Given the description of an element on the screen output the (x, y) to click on. 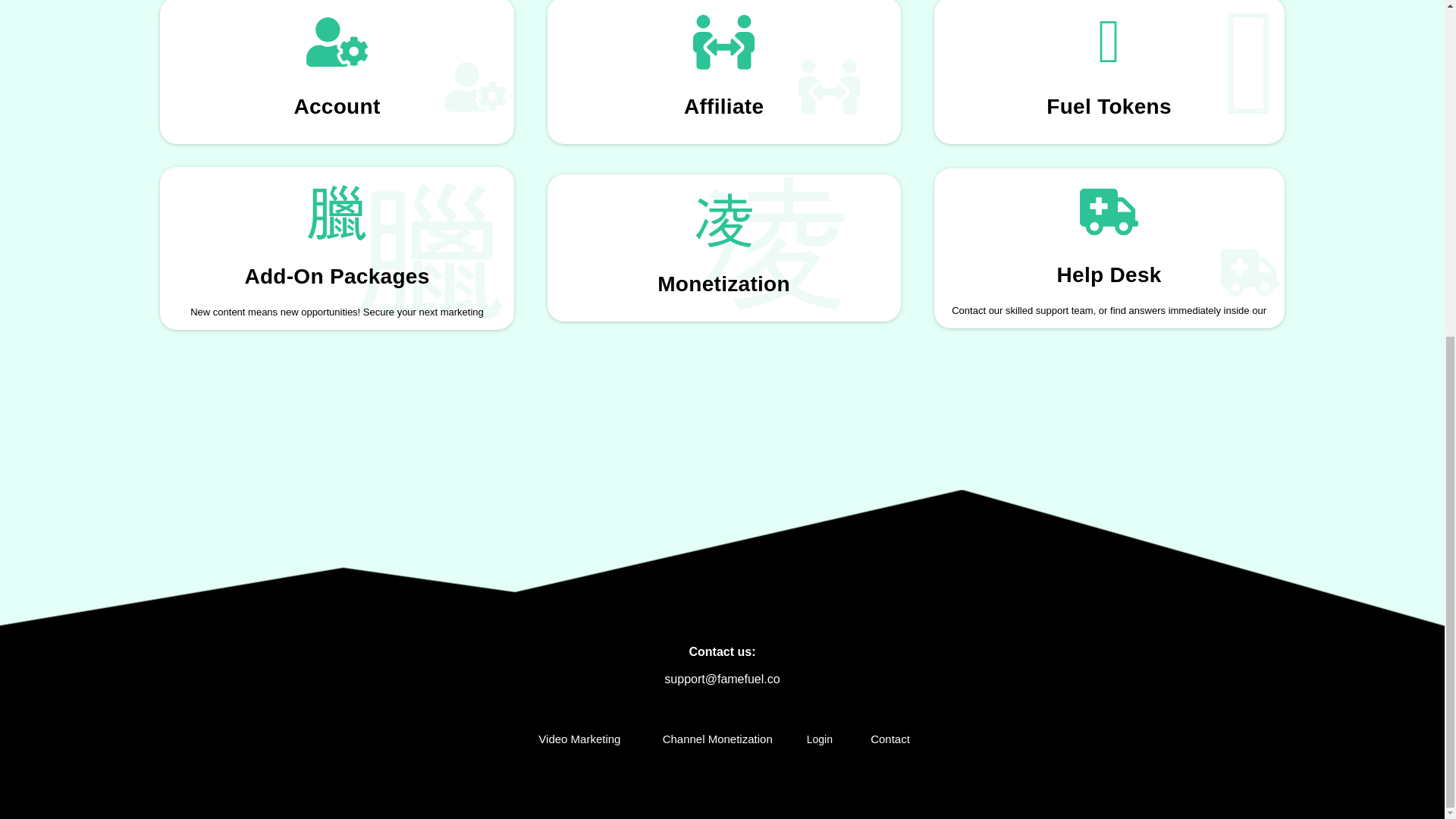
Channel Monetization (714, 739)
Contact (887, 739)
Video Marketing (577, 739)
Login (819, 739)
